Given the description of an element on the screen output the (x, y) to click on. 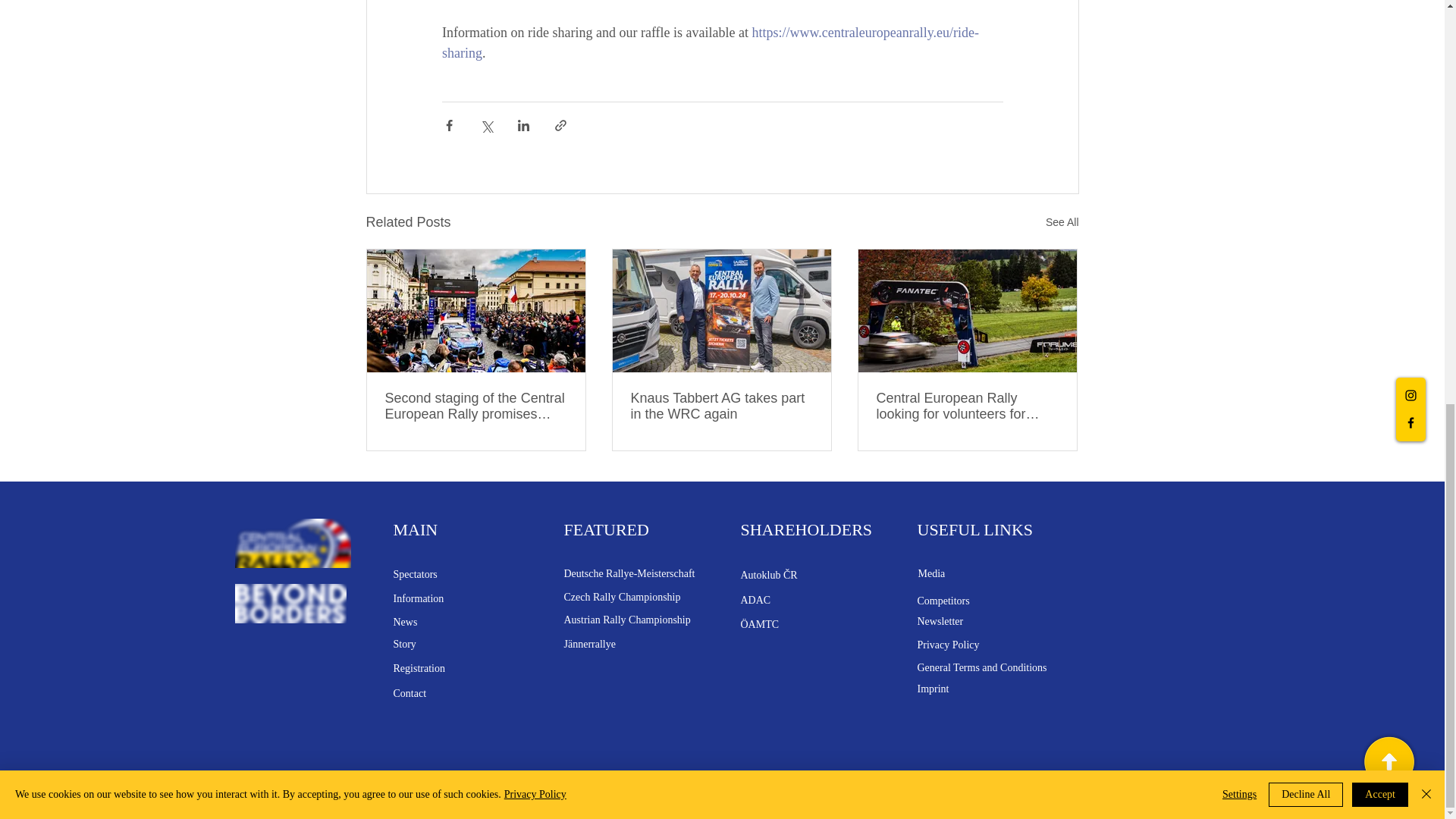
Knaus Tabbert AG takes part in the WRC again (721, 406)
See All (1061, 222)
Information (418, 598)
Spectators (414, 573)
